Given the description of an element on the screen output the (x, y) to click on. 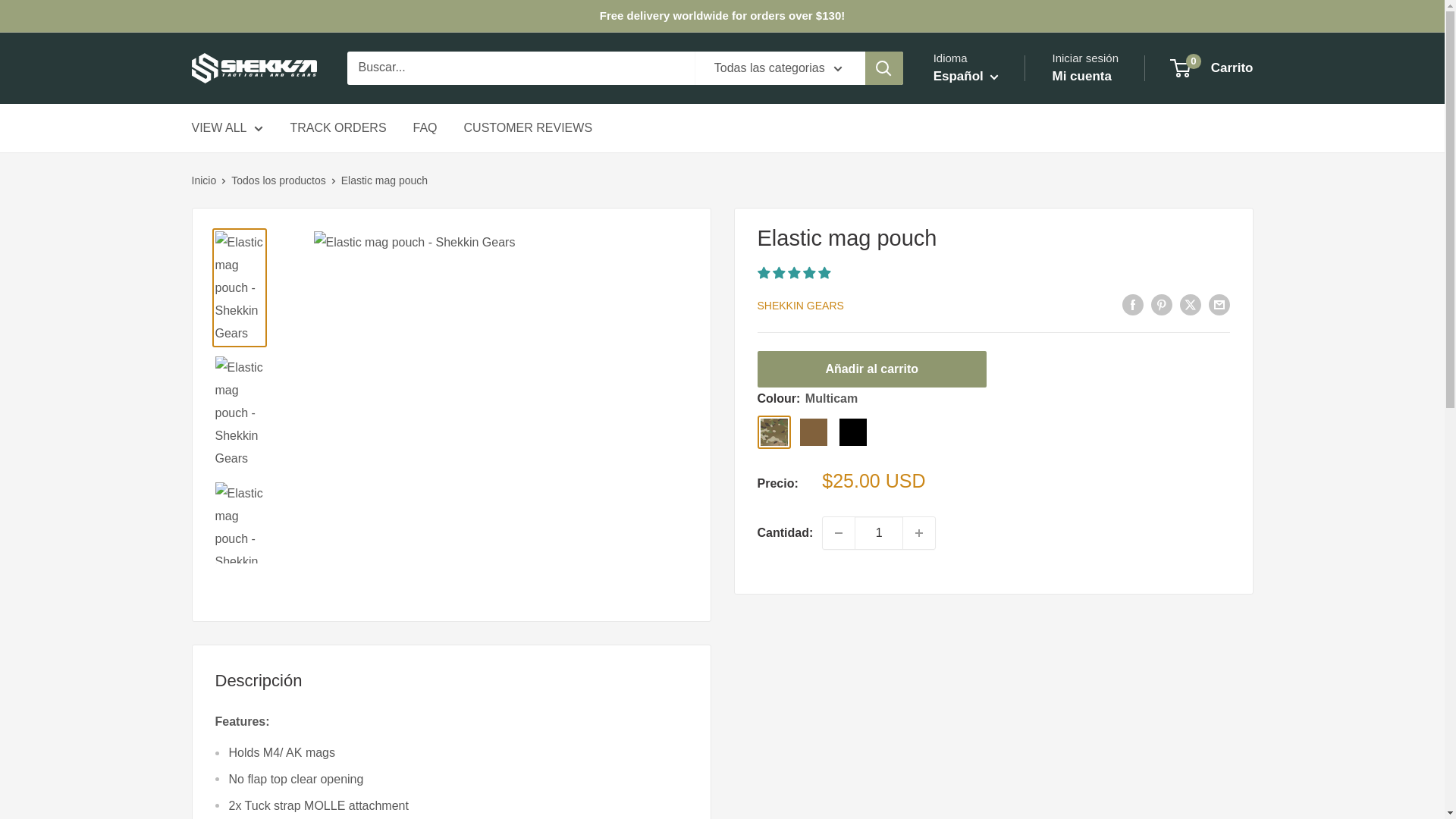
1 (878, 532)
Multicam (773, 431)
Coyote Brown (813, 431)
Aumentar la cantidad en 1 (918, 532)
Black (852, 431)
Disminuir la cantidad en 1 (838, 532)
